Given the description of an element on the screen output the (x, y) to click on. 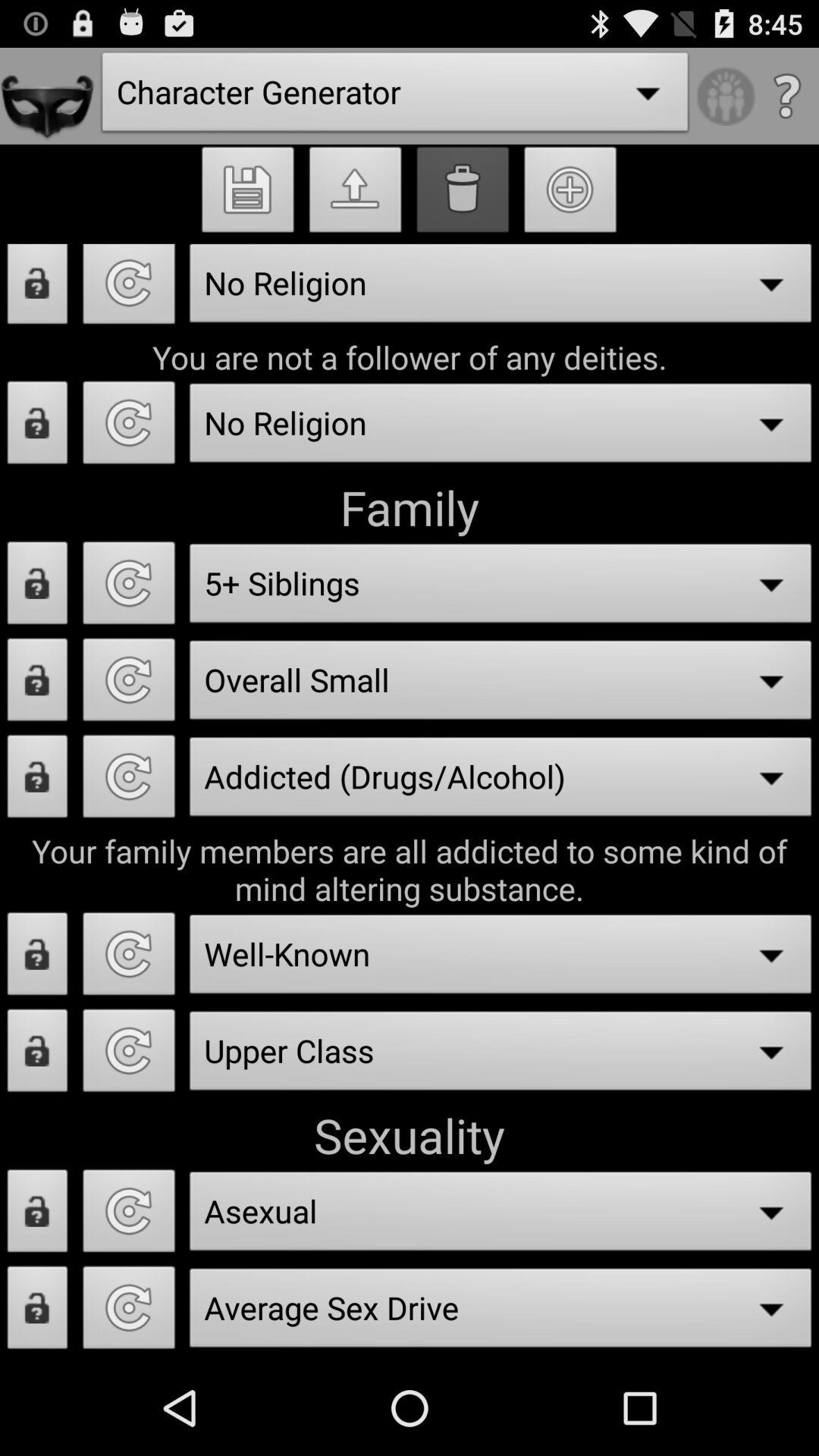
toggle lock (37, 958)
